Given the description of an element on the screen output the (x, y) to click on. 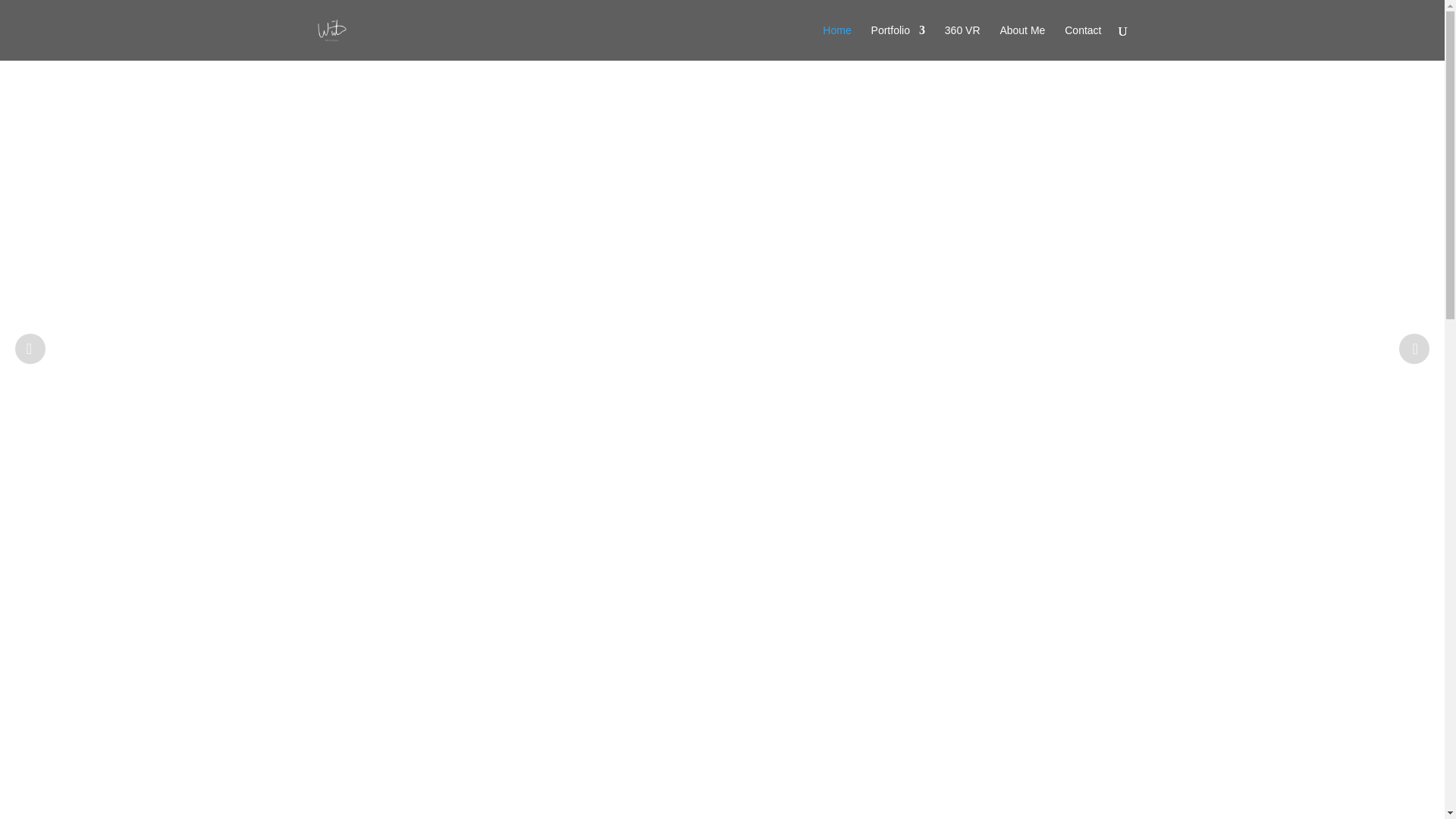
Contact (1082, 42)
Portfolio (897, 42)
About Me (1021, 42)
360 VR (961, 42)
